Given the description of an element on the screen output the (x, y) to click on. 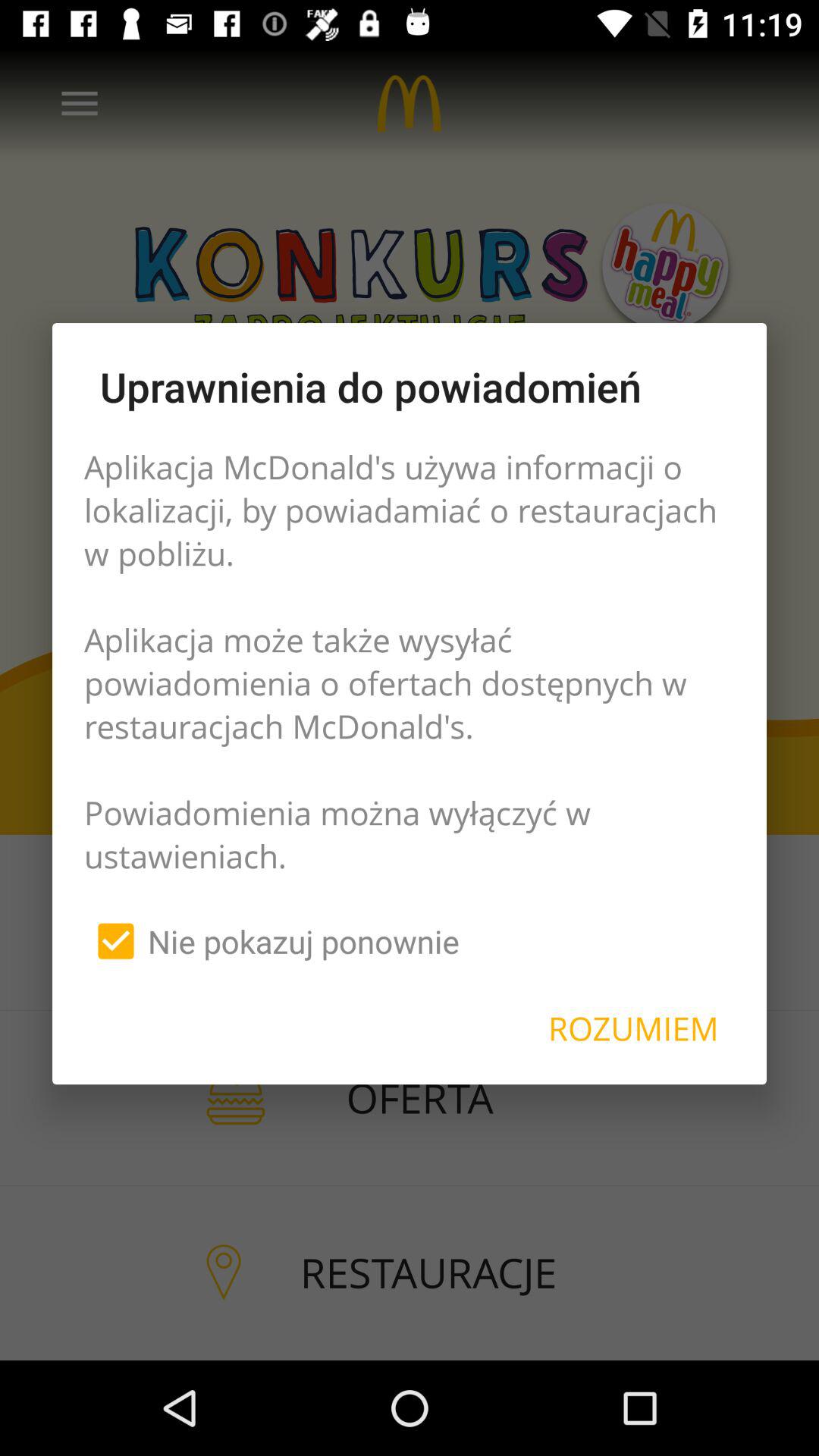
choose the nie pokazuj ponownie (271, 941)
